Given the description of an element on the screen output the (x, y) to click on. 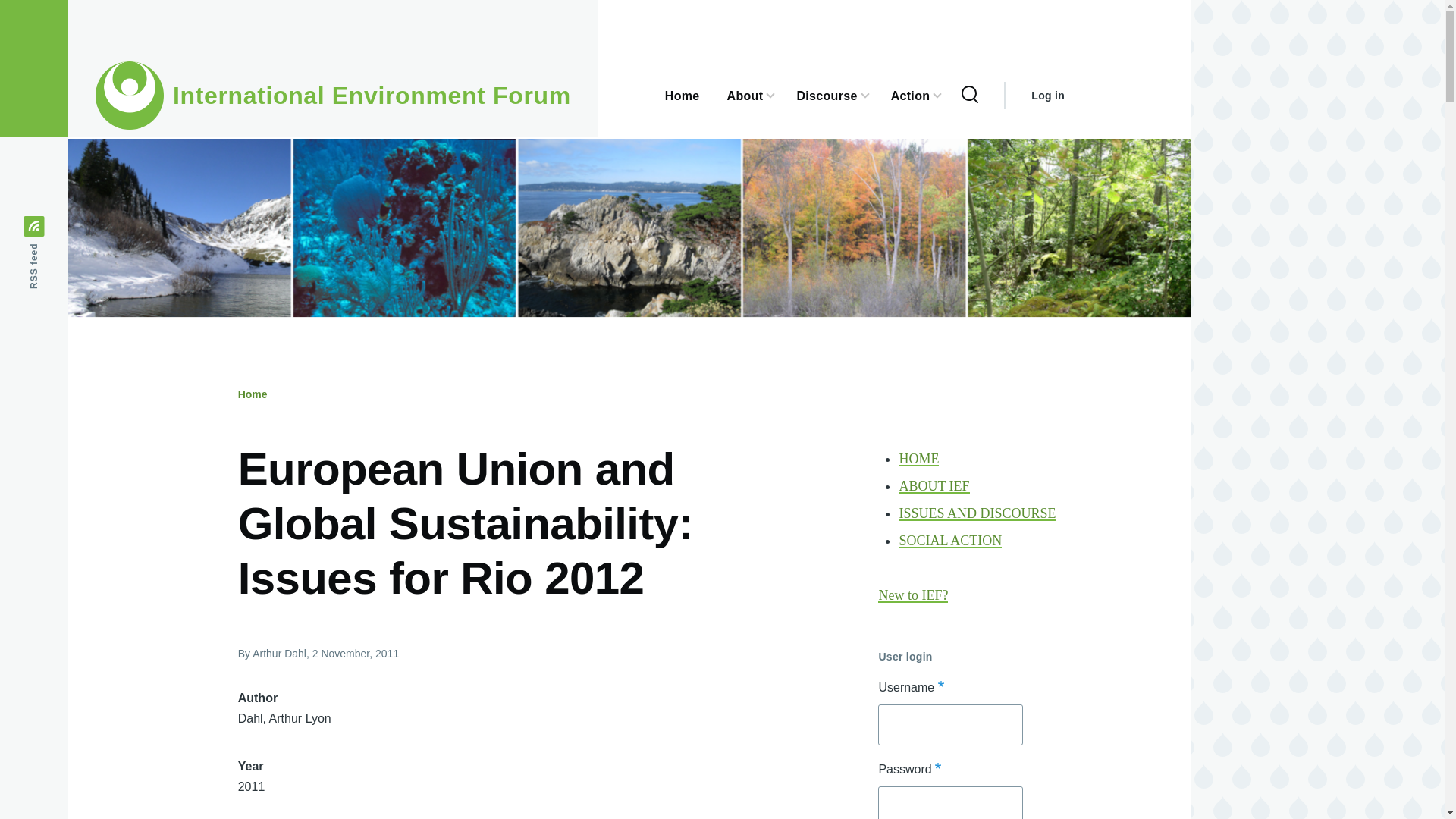
Log in (1047, 94)
Home (371, 94)
Skip to main content (595, 6)
International Environment Forum (371, 94)
Home (252, 394)
